Given the description of an element on the screen output the (x, y) to click on. 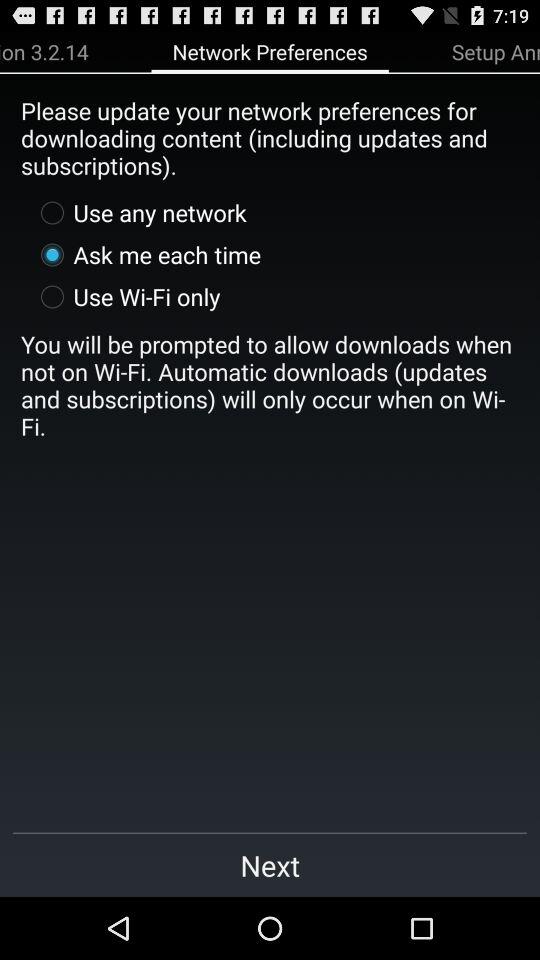
press item above the use wi fi (145, 254)
